Given the description of an element on the screen output the (x, y) to click on. 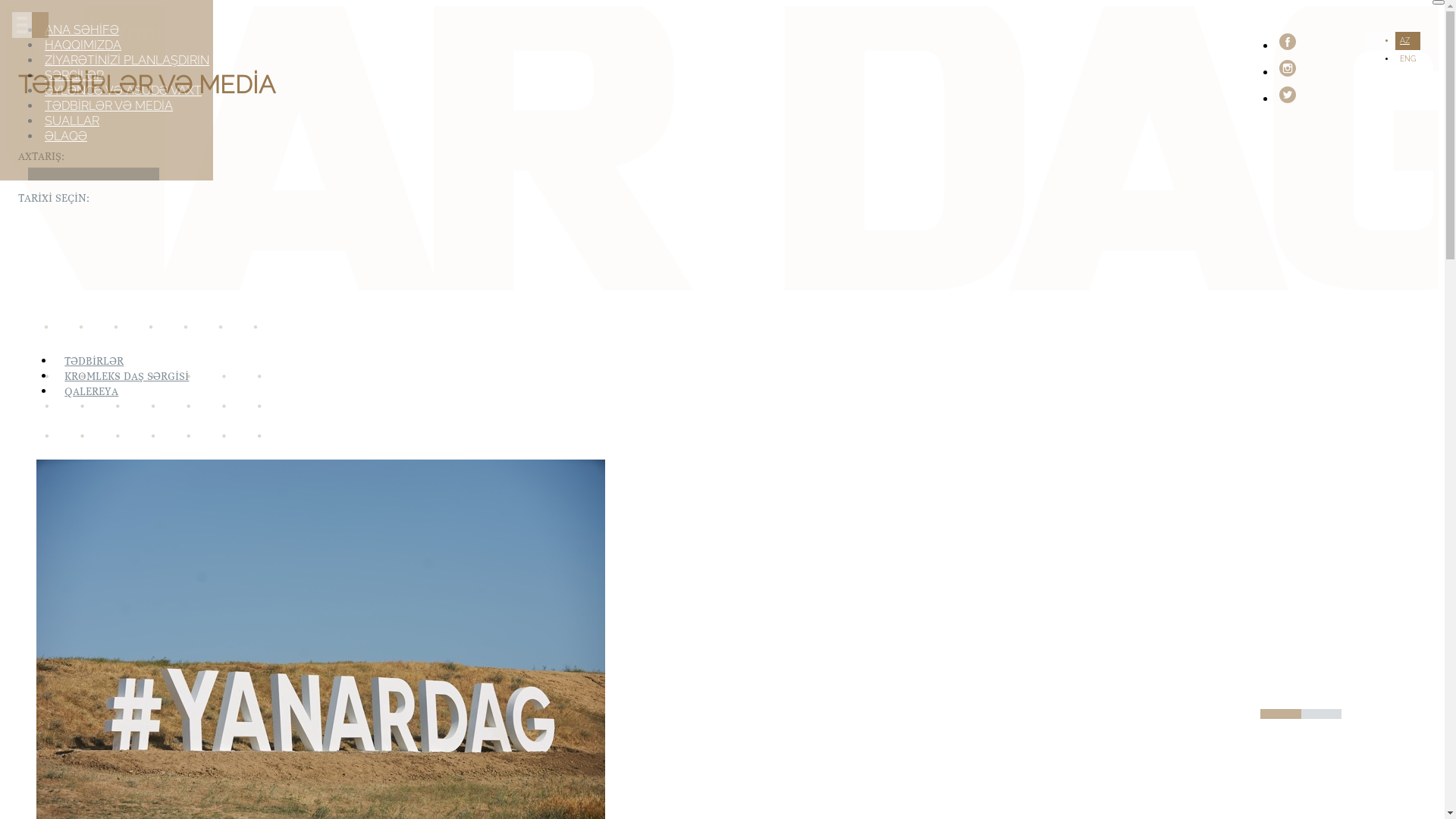
QALEREYA Element type: text (91, 391)
HAQQIMIZDA Element type: text (82, 44)
ENG Element type: text (1407, 58)
SUALLAR Element type: text (71, 120)
AZ Element type: text (1404, 40)
